Given the description of an element on the screen output the (x, y) to click on. 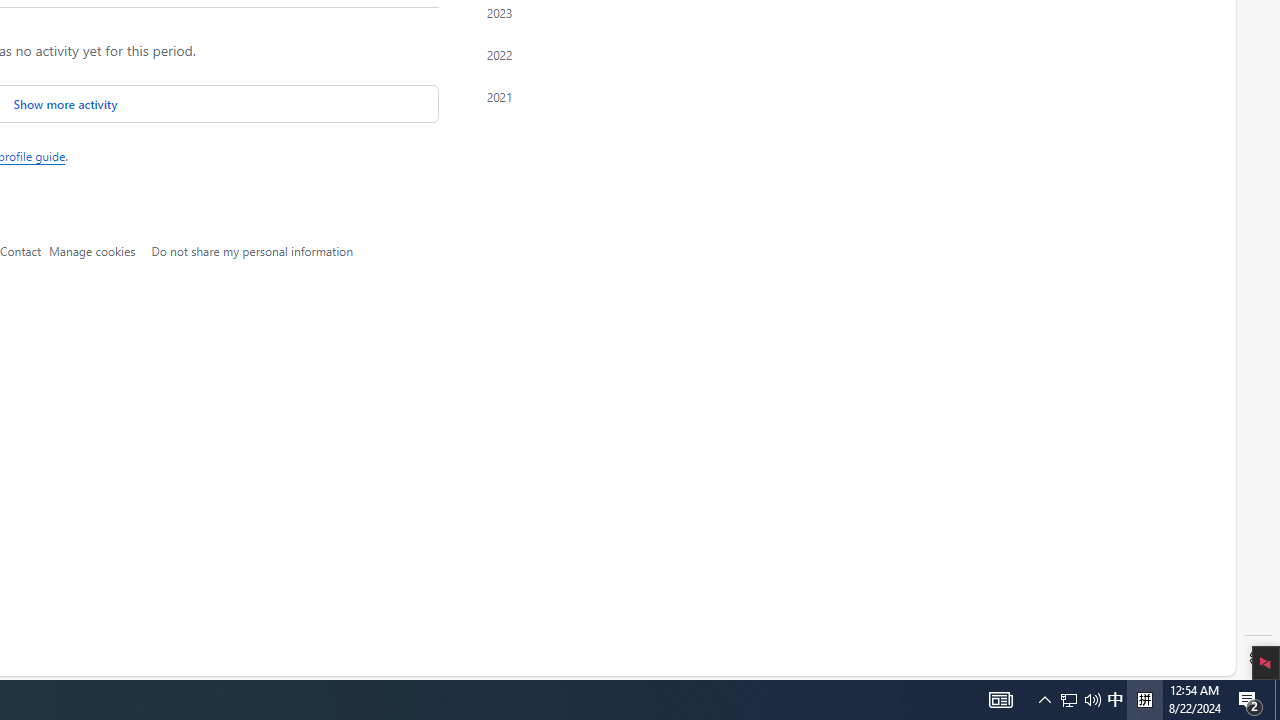
Do not share my personal information (252, 250)
Contribution activity in 2022 (528, 54)
Manage cookies (91, 250)
Do not share my personal information (252, 250)
2022 (528, 54)
Manage cookies (91, 250)
2021 (528, 96)
Contribution activity in 2021 (528, 96)
